Given the description of an element on the screen output the (x, y) to click on. 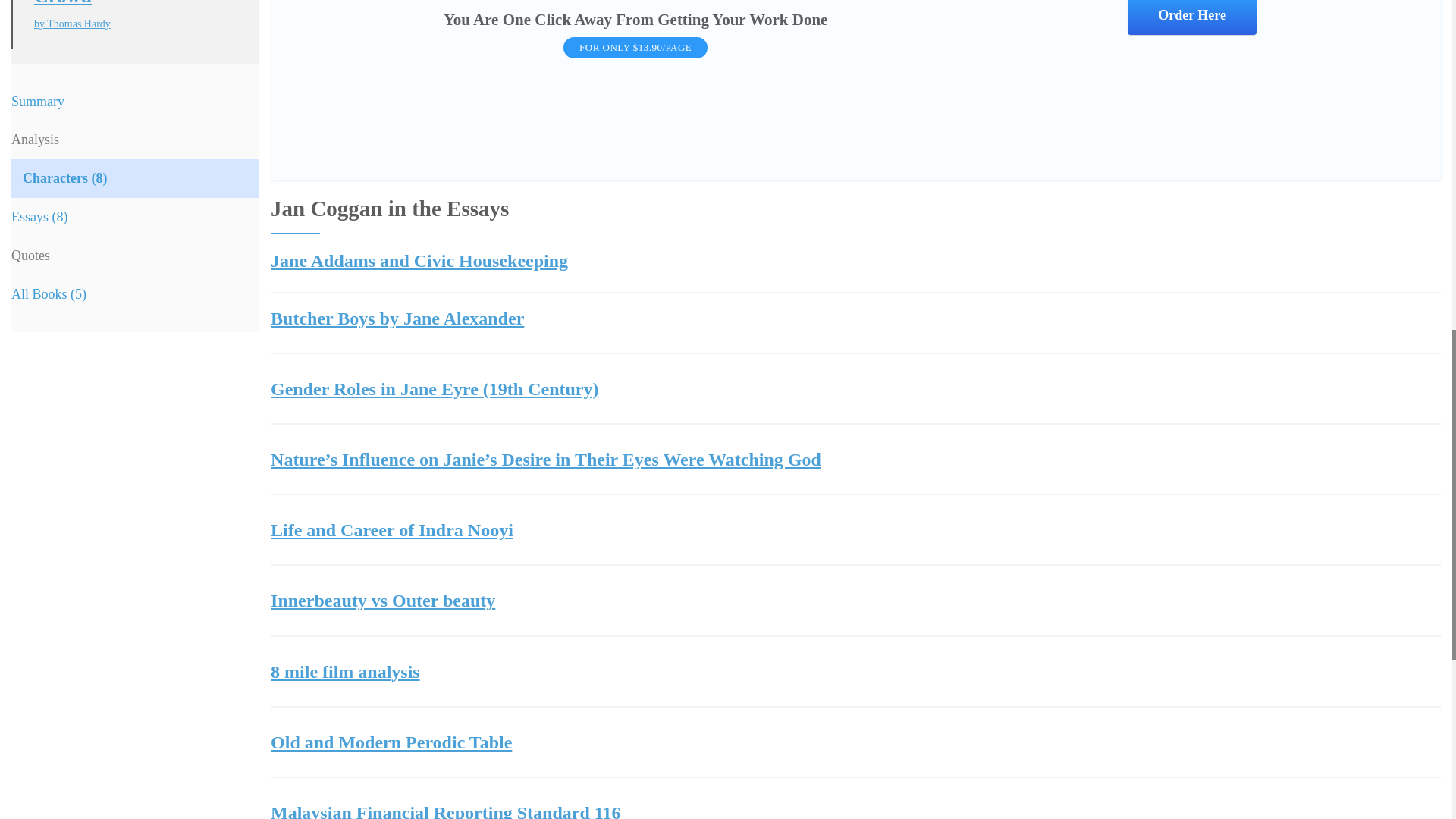
Summary (135, 101)
Quotes (135, 255)
Life and Career of Indra Nooyi (855, 530)
Order Here (1191, 17)
8 mile film analysis (855, 671)
by Thomas Hardy (134, 24)
Malaysian Financial Reporting Standard 116 (855, 810)
Old and Modern Perodic Table (855, 742)
Innerbeauty vs Outer beauty (855, 600)
Analysis (135, 139)
Far from the Madding Crowd (134, 4)
Jane Addams and Civic Housekeeping (855, 260)
Butcher Boys by Jane Alexander (855, 318)
